Given the description of an element on the screen output the (x, y) to click on. 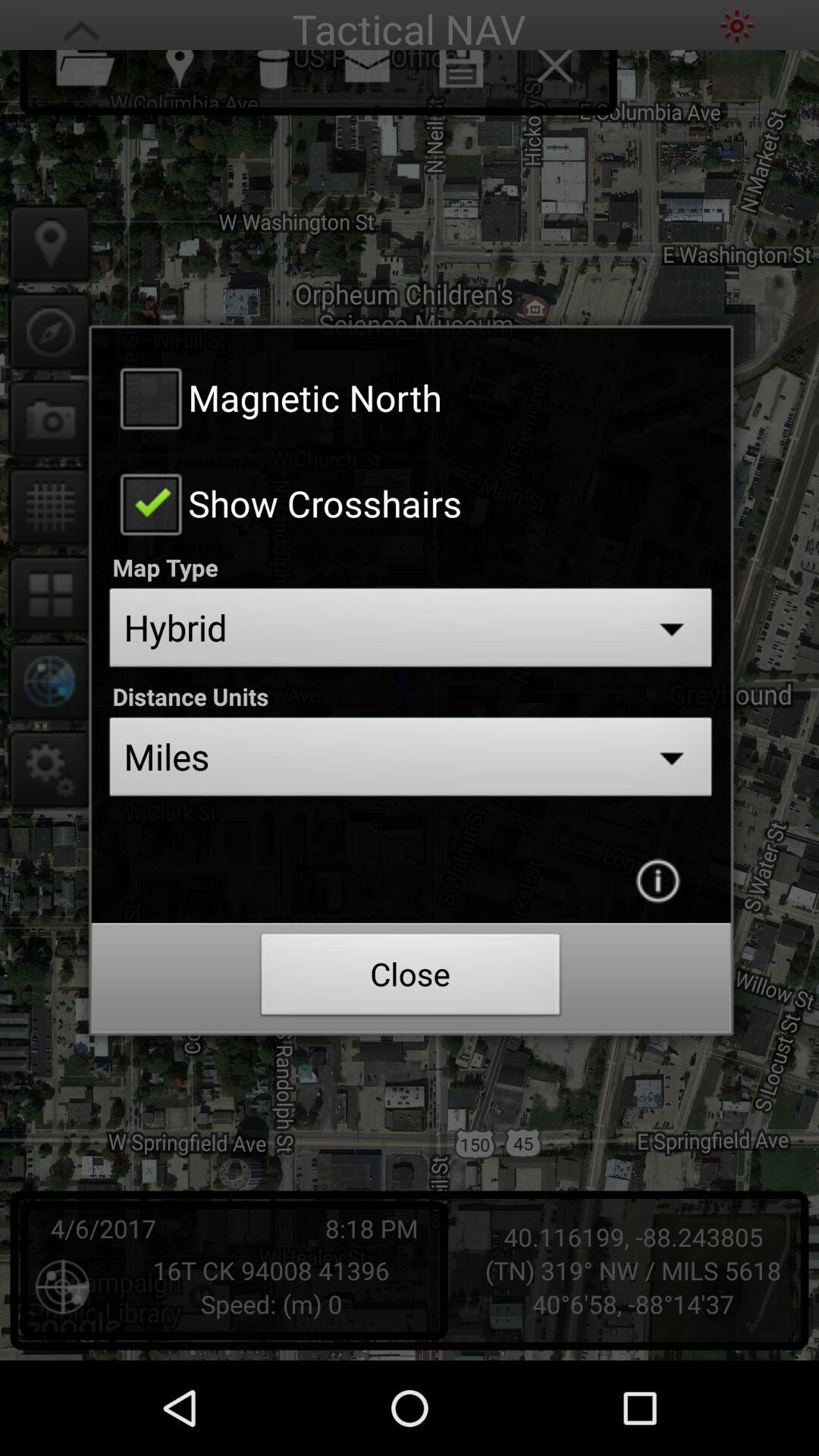
more info button (657, 880)
